Given the description of an element on the screen output the (x, y) to click on. 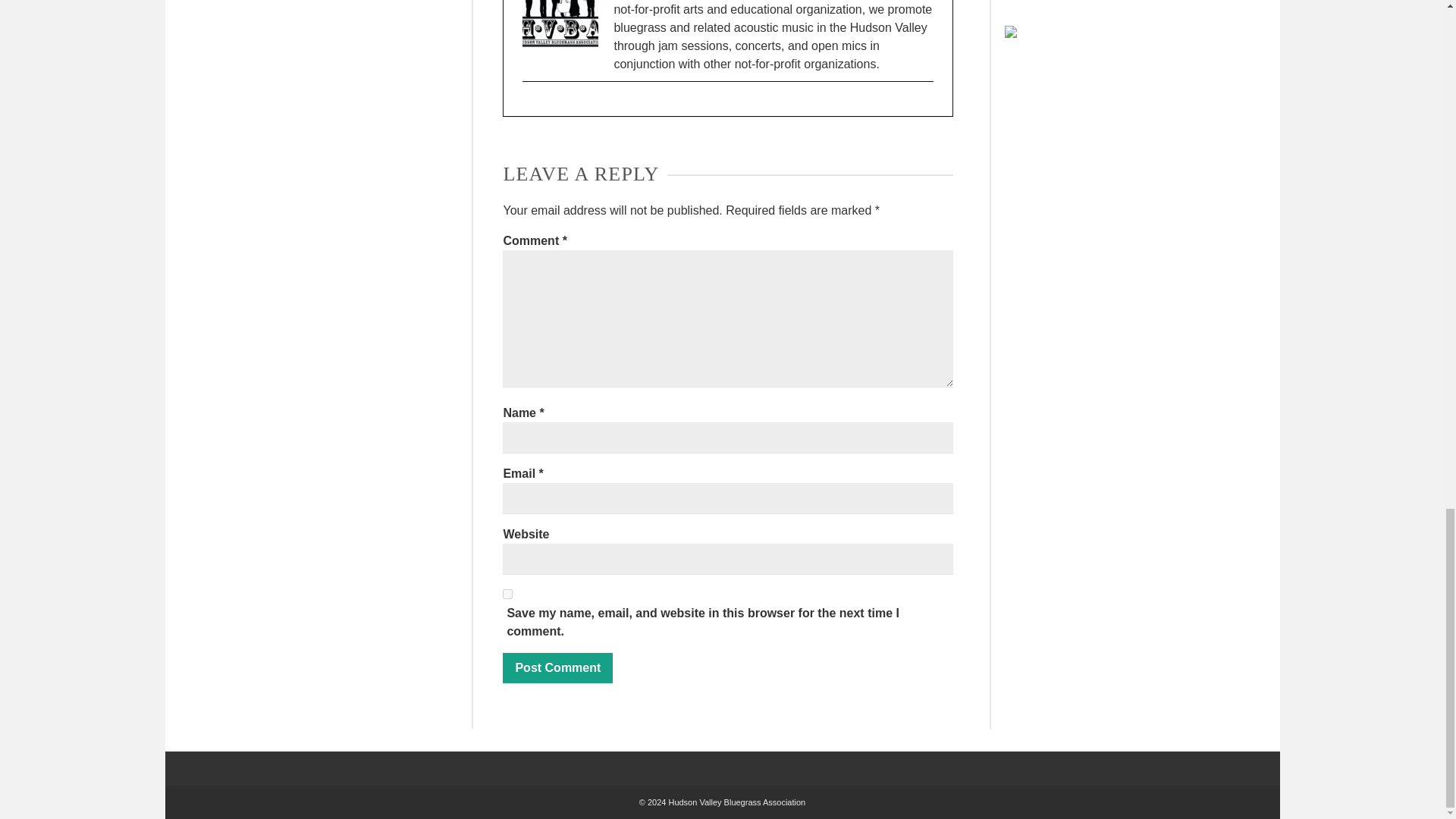
yes (507, 593)
Post Comment (557, 667)
